Given the description of an element on the screen output the (x, y) to click on. 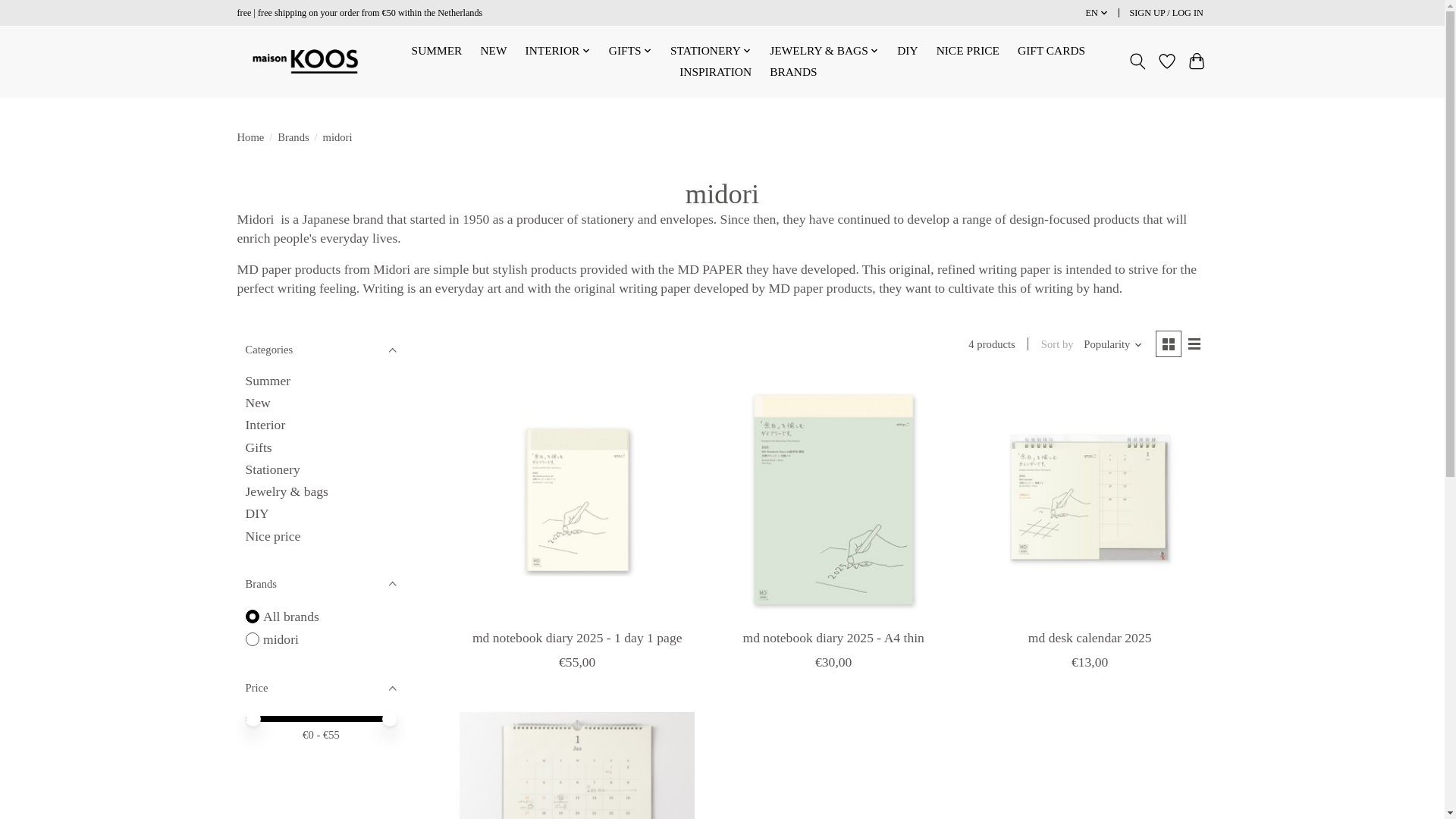
midori md  wall calendar 2025 (577, 765)
NEW (493, 51)
GIFTS (631, 51)
INSPIRATION (715, 71)
EN (1097, 13)
midori md  desk calendar 2025 (1089, 499)
DIY (907, 51)
My account (1166, 13)
STATIONERY (711, 51)
midori md  notebook diary 2025 - 1 day 1 page (577, 499)
